Given the description of an element on the screen output the (x, y) to click on. 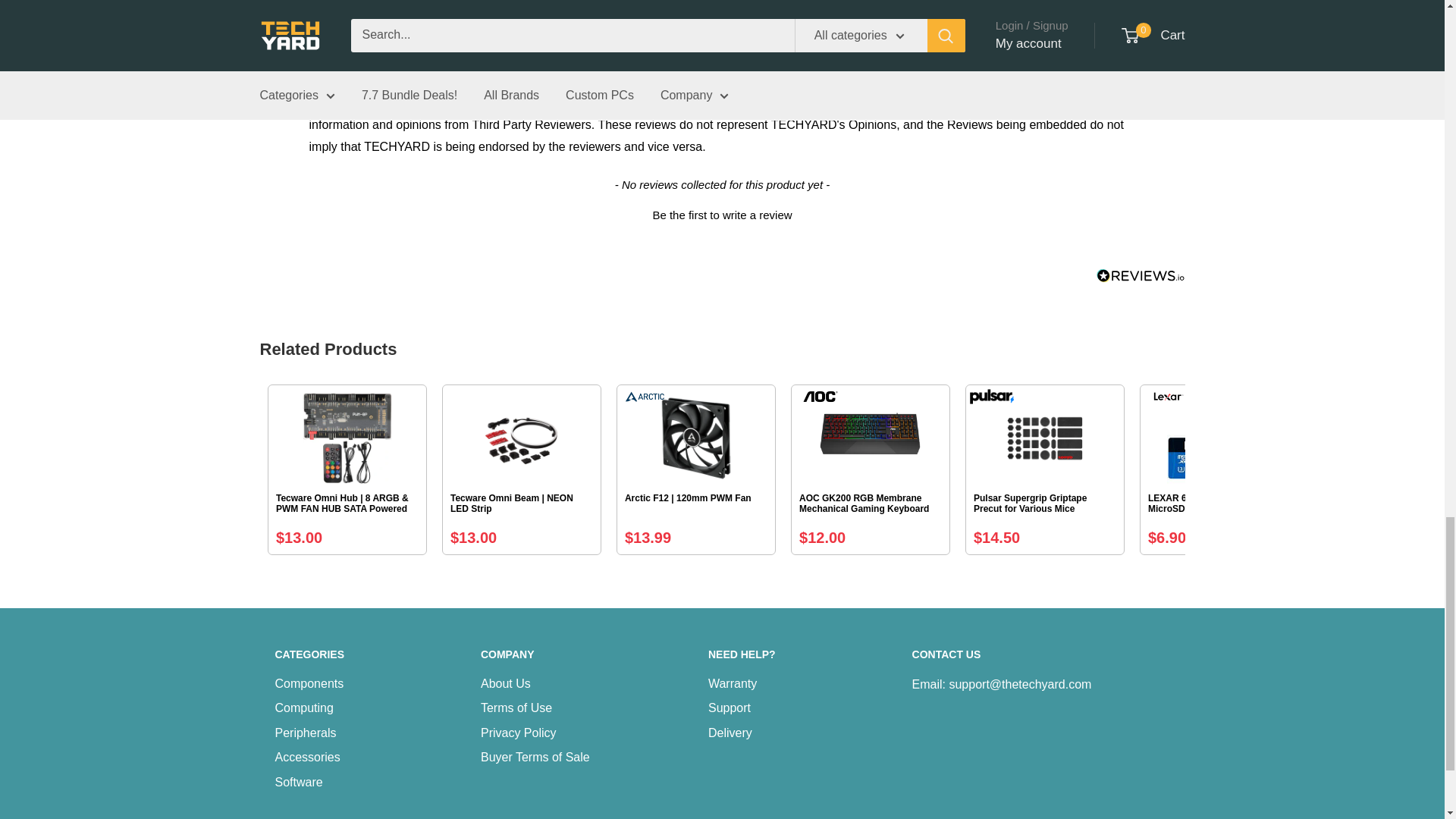
YouTube video player (582, 39)
